Given the description of an element on the screen output the (x, y) to click on. 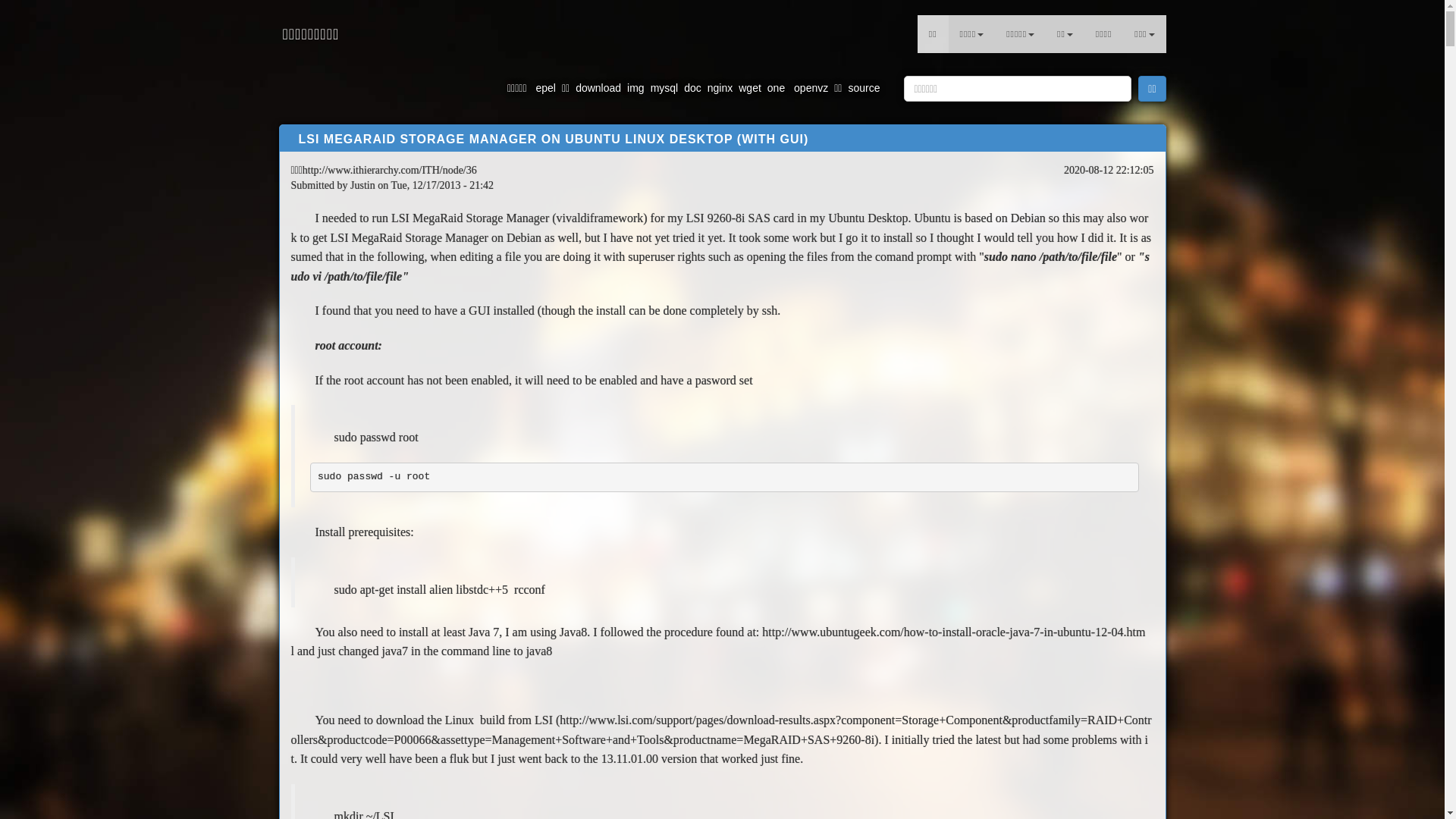
download Element type: text (598, 87)
openvz Element type: text (809, 87)
epel Element type: text (545, 87)
mysql Element type: text (664, 87)
img Element type: text (635, 87)
nginx Element type: text (719, 87)
wget Element type: text (749, 87)
one Element type: text (775, 87)
source Element type: text (863, 87)
doc Element type: text (692, 87)
